Given the description of an element on the screen output the (x, y) to click on. 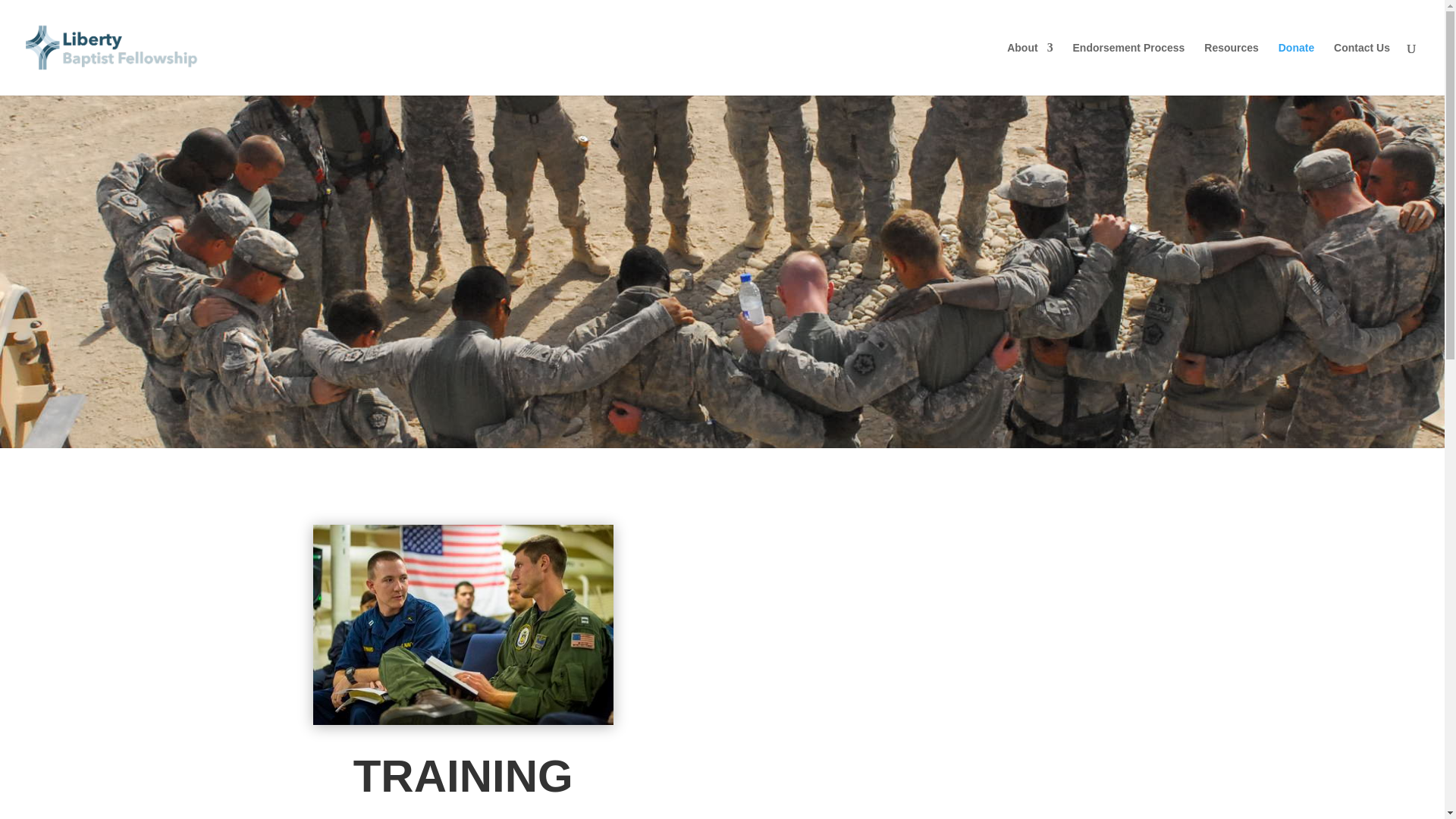
Contact Us (1361, 68)
Endorsement Process (1129, 68)
Resources (1231, 68)
